Given the description of an element on the screen output the (x, y) to click on. 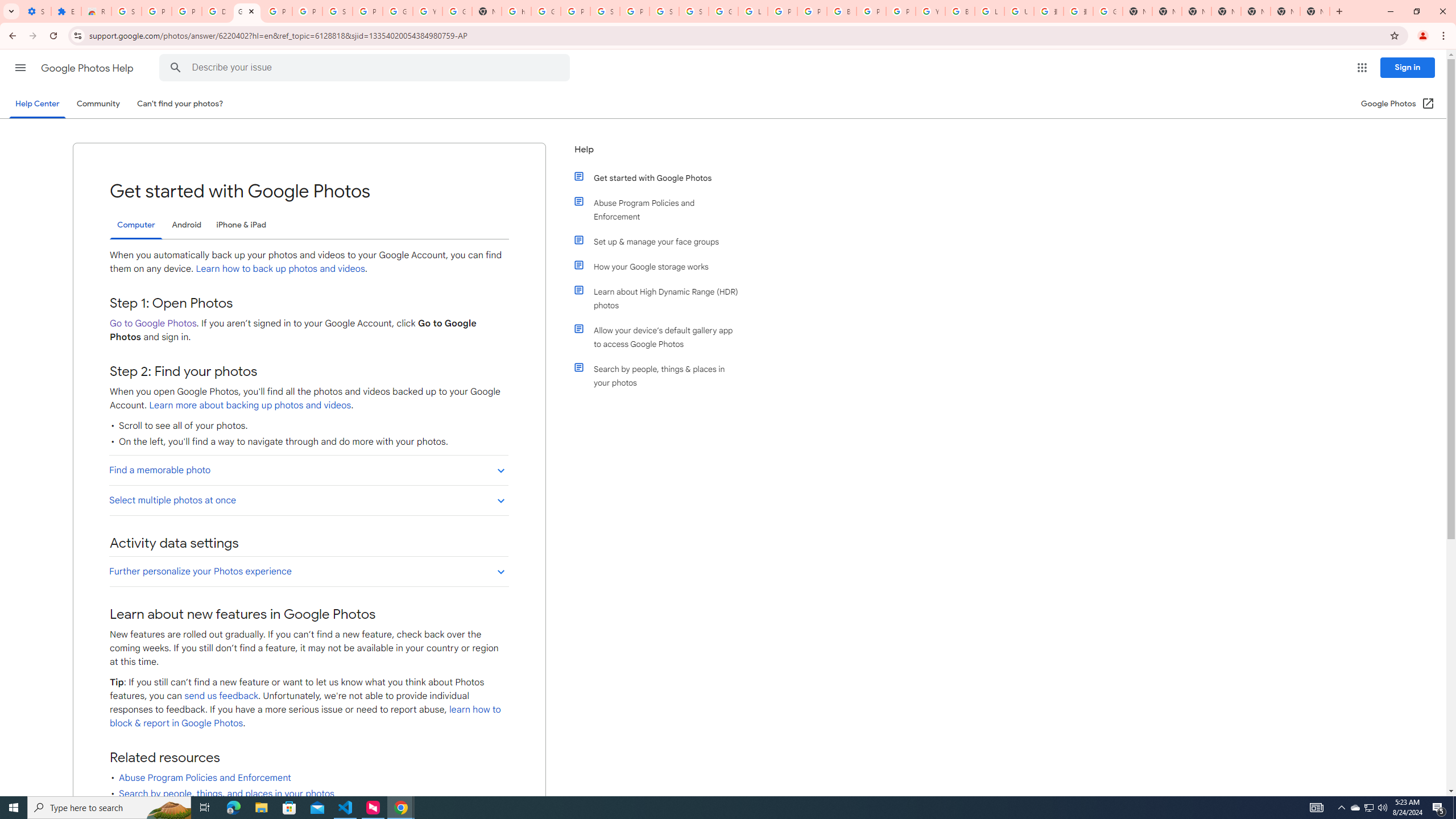
Google Account (397, 11)
Google Images (1107, 11)
